Given the description of an element on the screen output the (x, y) to click on. 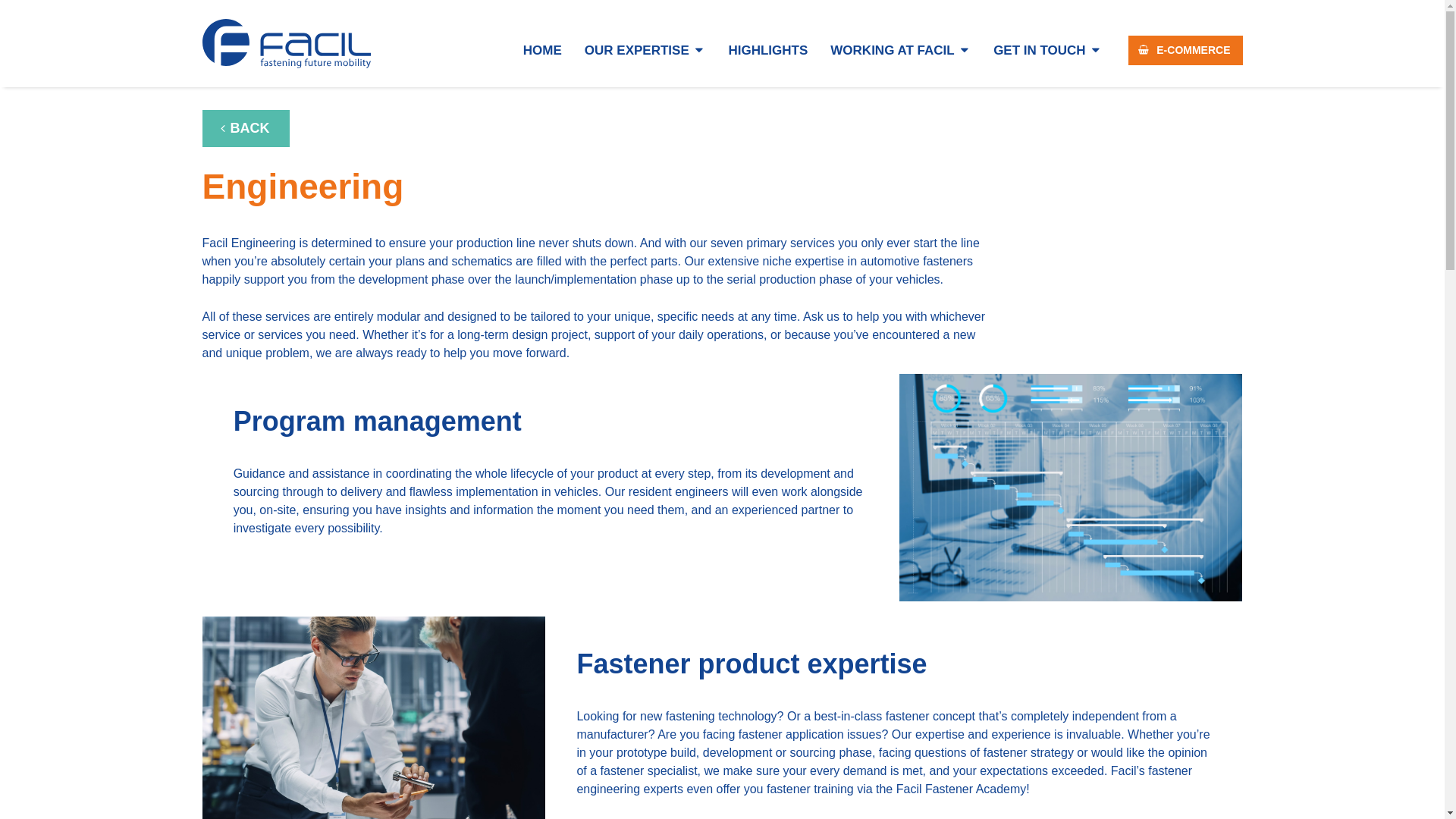
BACK (245, 128)
OUR EXPERTISE (645, 49)
HIGHLIGHTS (767, 49)
E-COMMERCE (1184, 50)
GET IN TOUCH (1047, 49)
HOME (542, 49)
WORKING AT FACIL (899, 49)
